Given the description of an element on the screen output the (x, y) to click on. 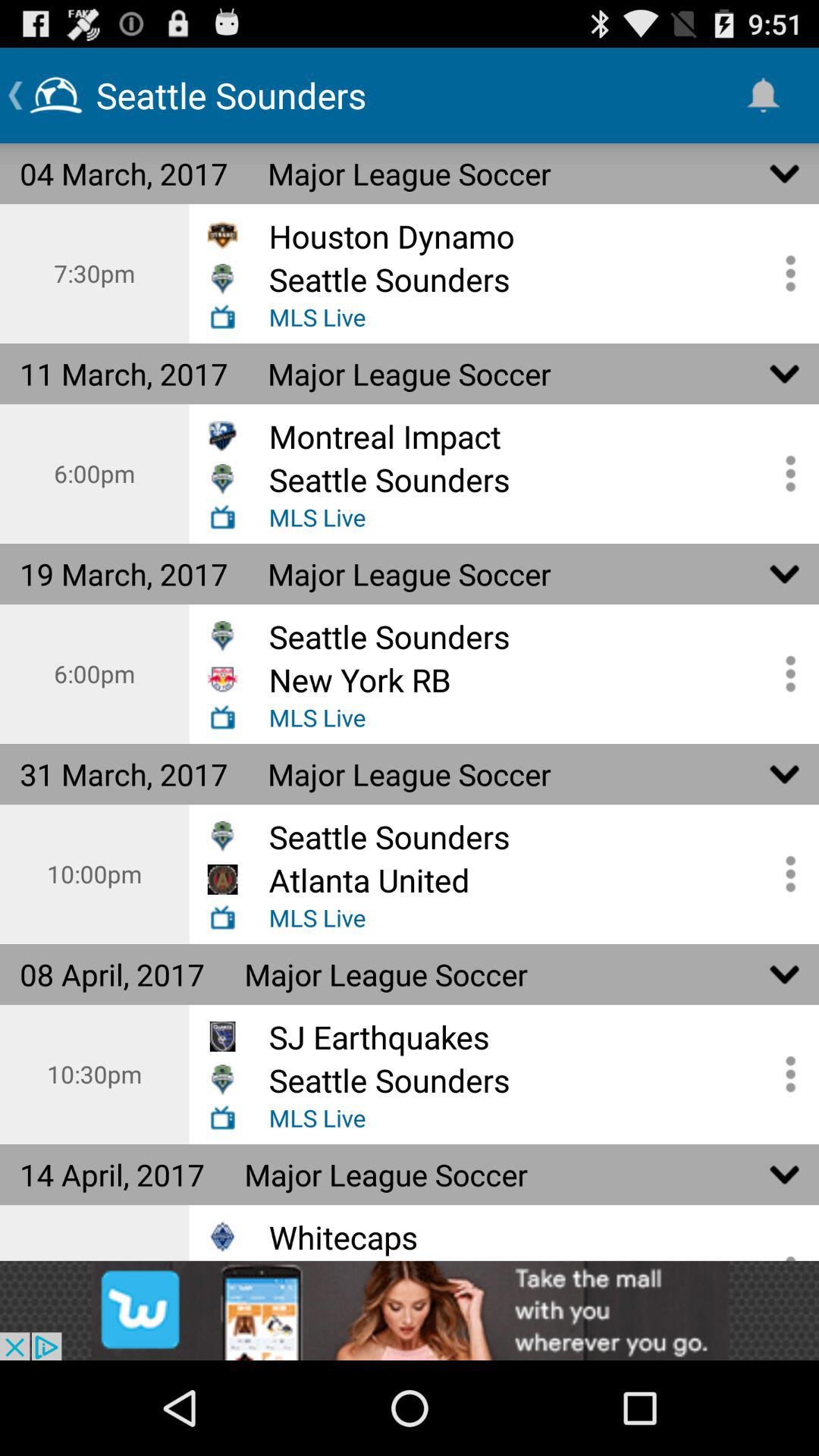
more option (785, 673)
